Given the description of an element on the screen output the (x, y) to click on. 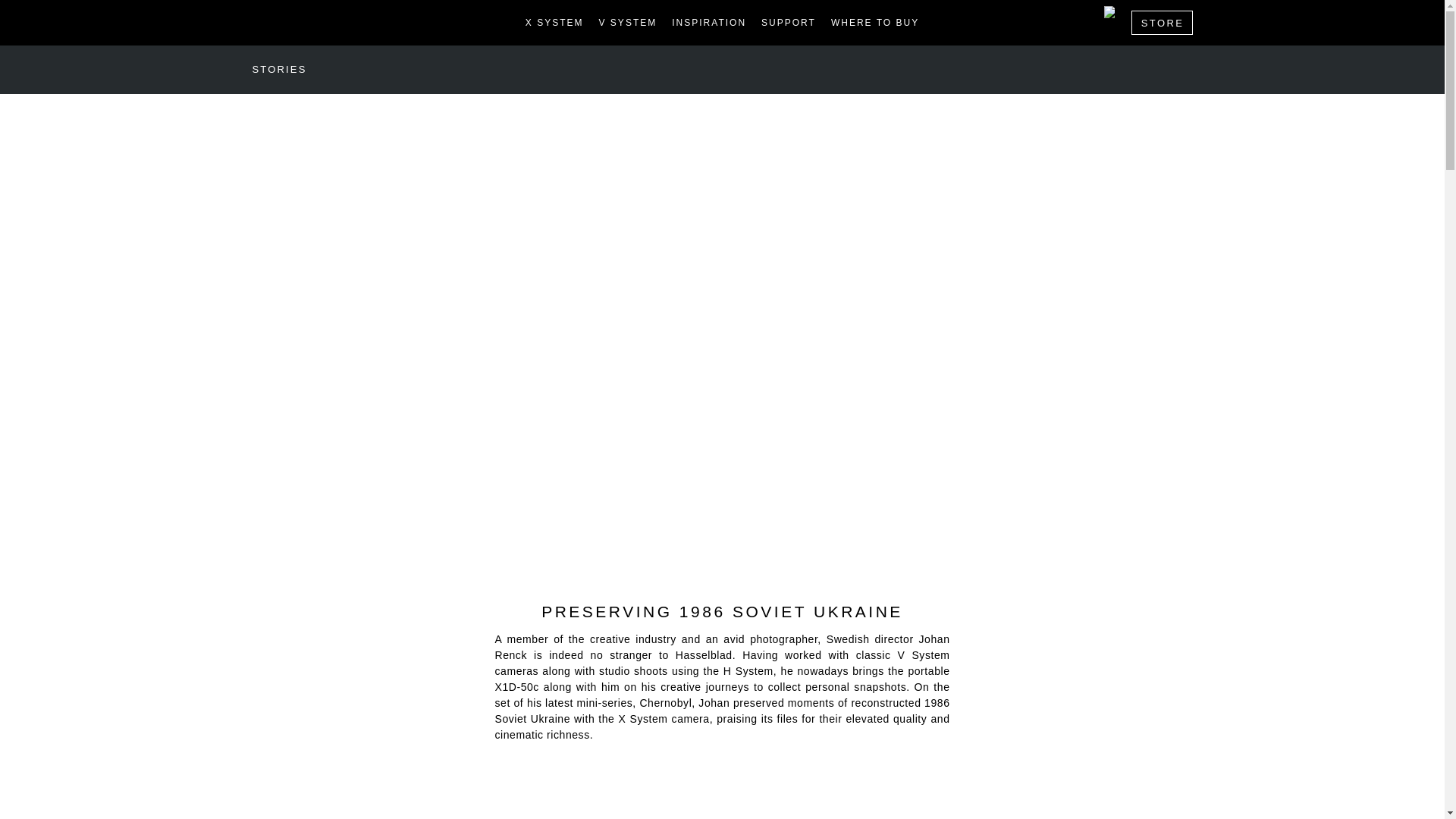
WHERE TO BUY (874, 22)
INSPIRATION (708, 22)
X SYSTEM (554, 22)
STORIES (278, 69)
V SYSTEM (628, 22)
SUPPORT (788, 22)
STORE (1161, 22)
